Given the description of an element on the screen output the (x, y) to click on. 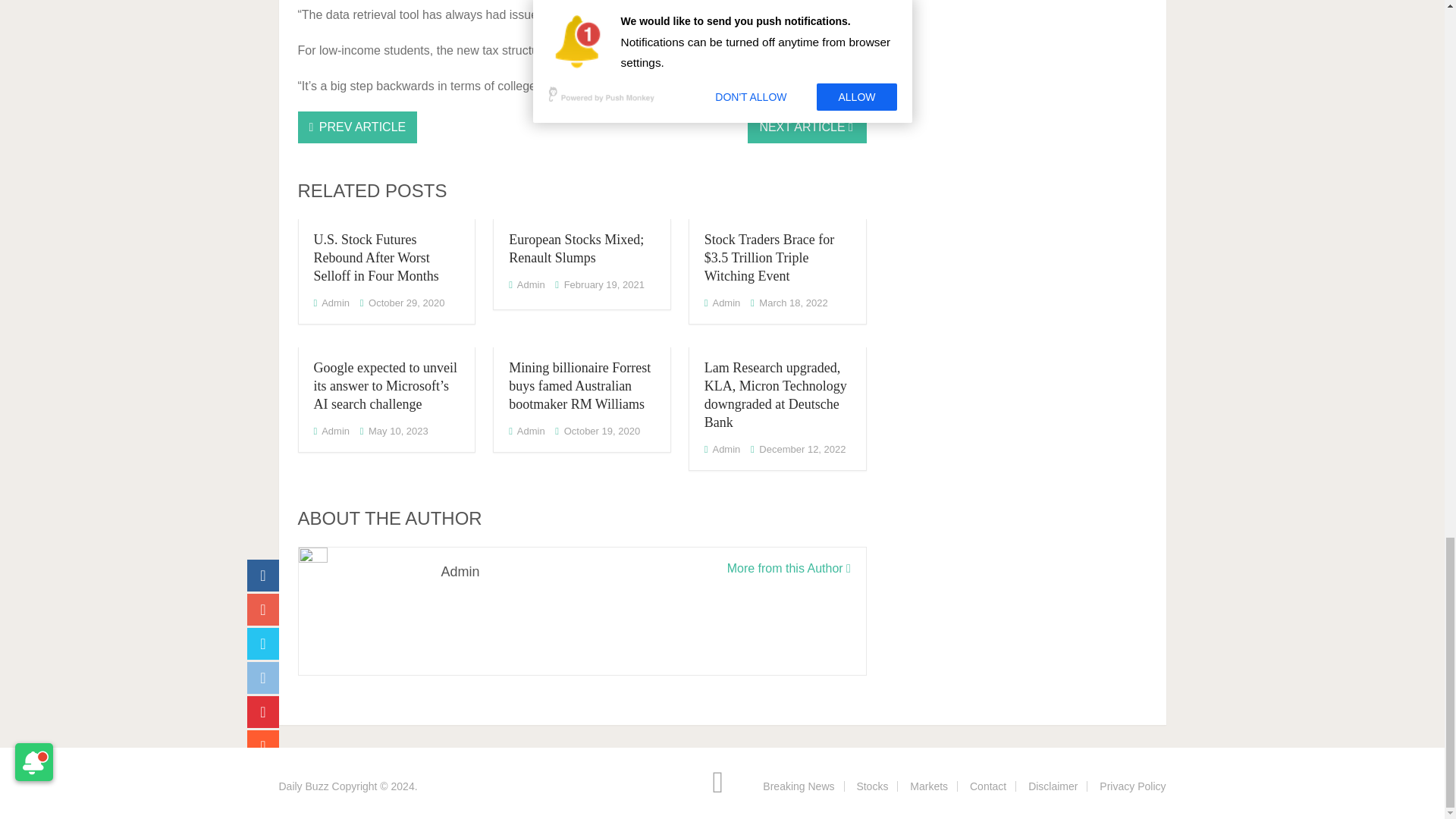
NEXT ARTICLE (807, 127)
Posts by admin (530, 430)
Admin (725, 302)
Posts by admin (335, 430)
Admin (530, 284)
European Stocks Mixed; Renault Slumps (575, 248)
European Stocks Mixed; Renault Slumps (575, 248)
Posts by admin (335, 302)
Admin (335, 430)
Admin (335, 302)
Posts by admin (725, 302)
Posts by admin (530, 284)
PREV ARTICLE (356, 127)
